Given the description of an element on the screen output the (x, y) to click on. 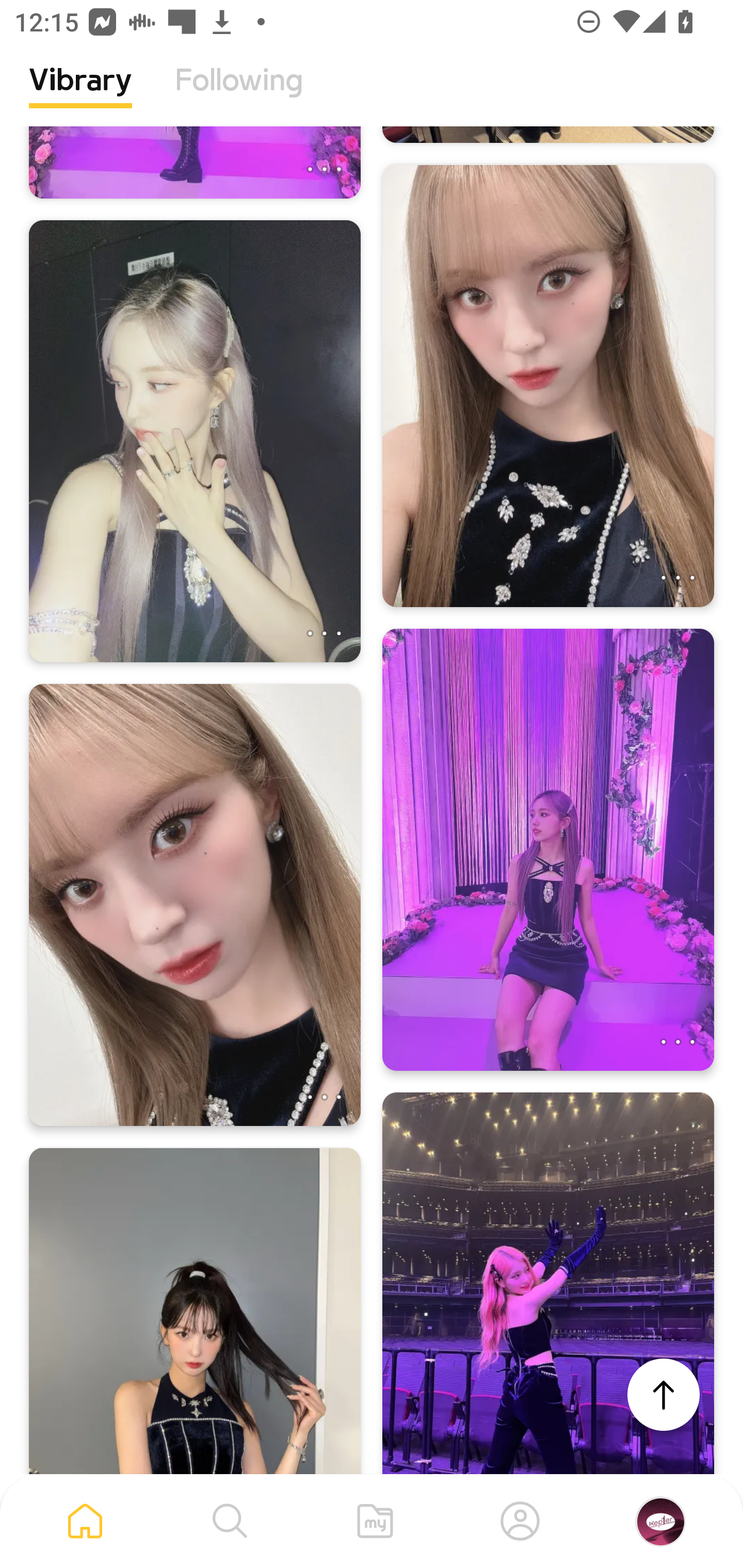
Vibrary (80, 95)
Following (239, 95)
